Given the description of an element on the screen output the (x, y) to click on. 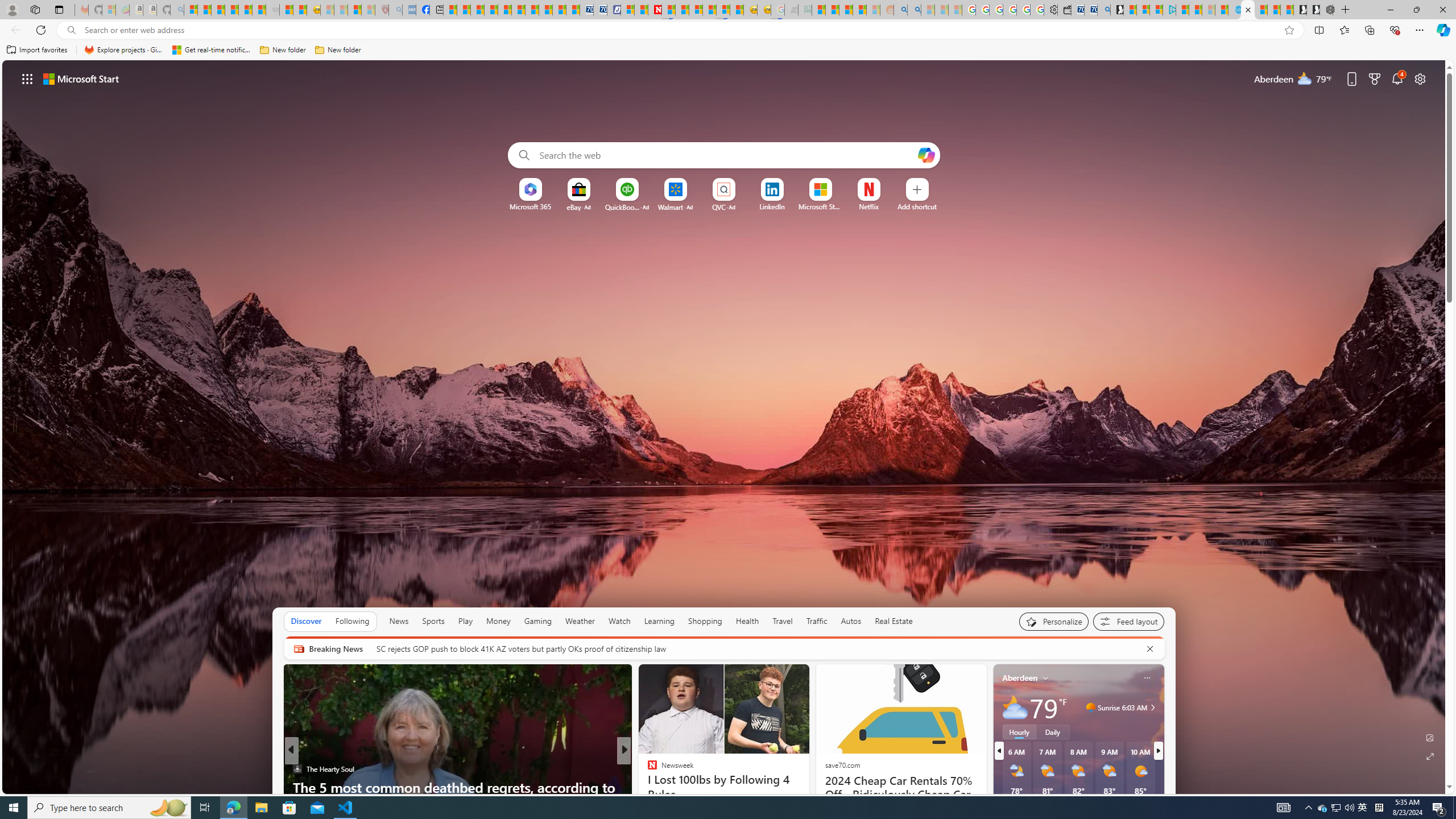
Utah sues federal government - Search (914, 9)
Class: weather-arrow-glyph (1152, 707)
Add a site (916, 206)
Mostly cloudy (1014, 707)
